Given the description of an element on the screen output the (x, y) to click on. 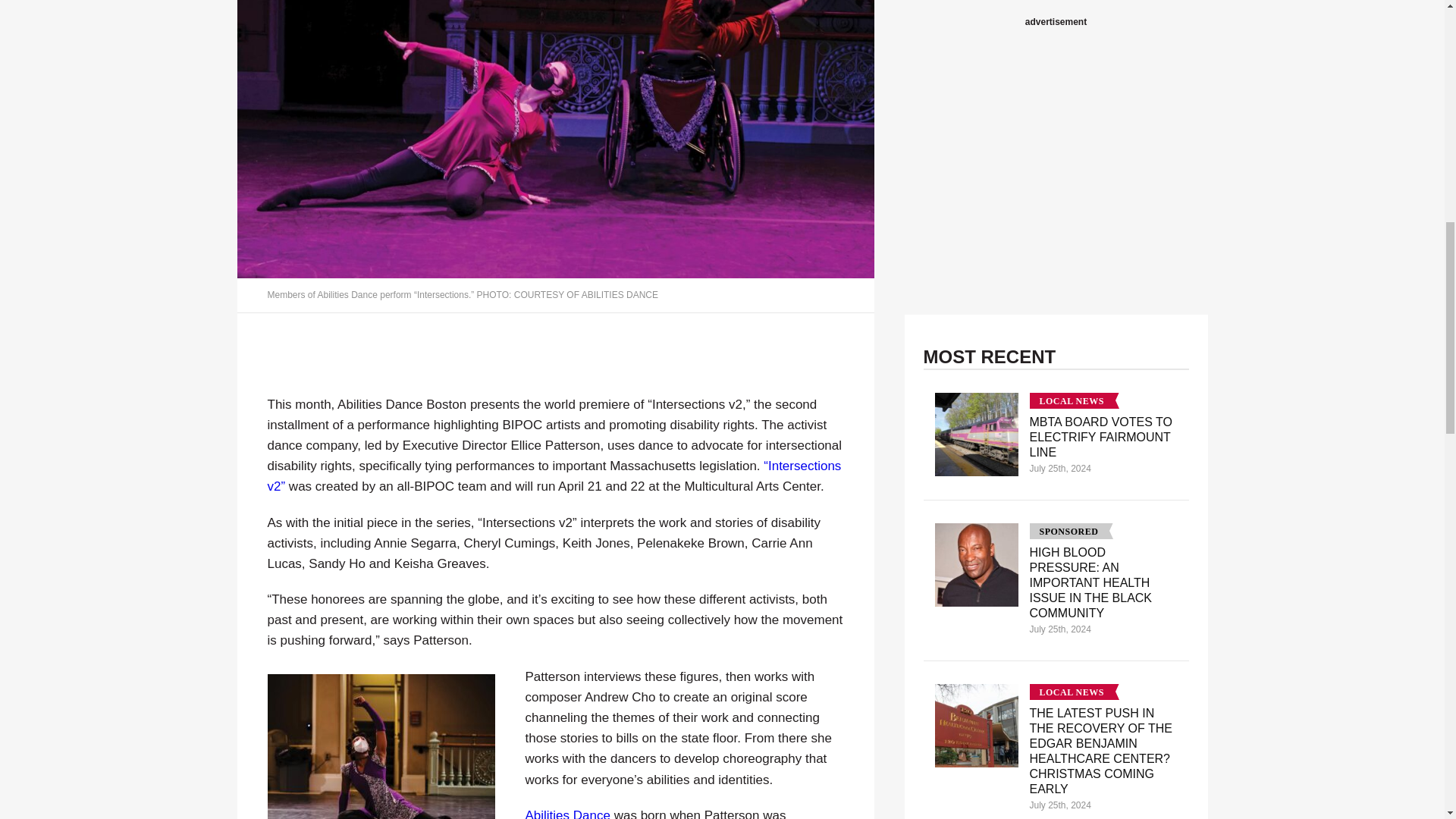
3rd party ad content (1055, 6)
